Given the description of an element on the screen output the (x, y) to click on. 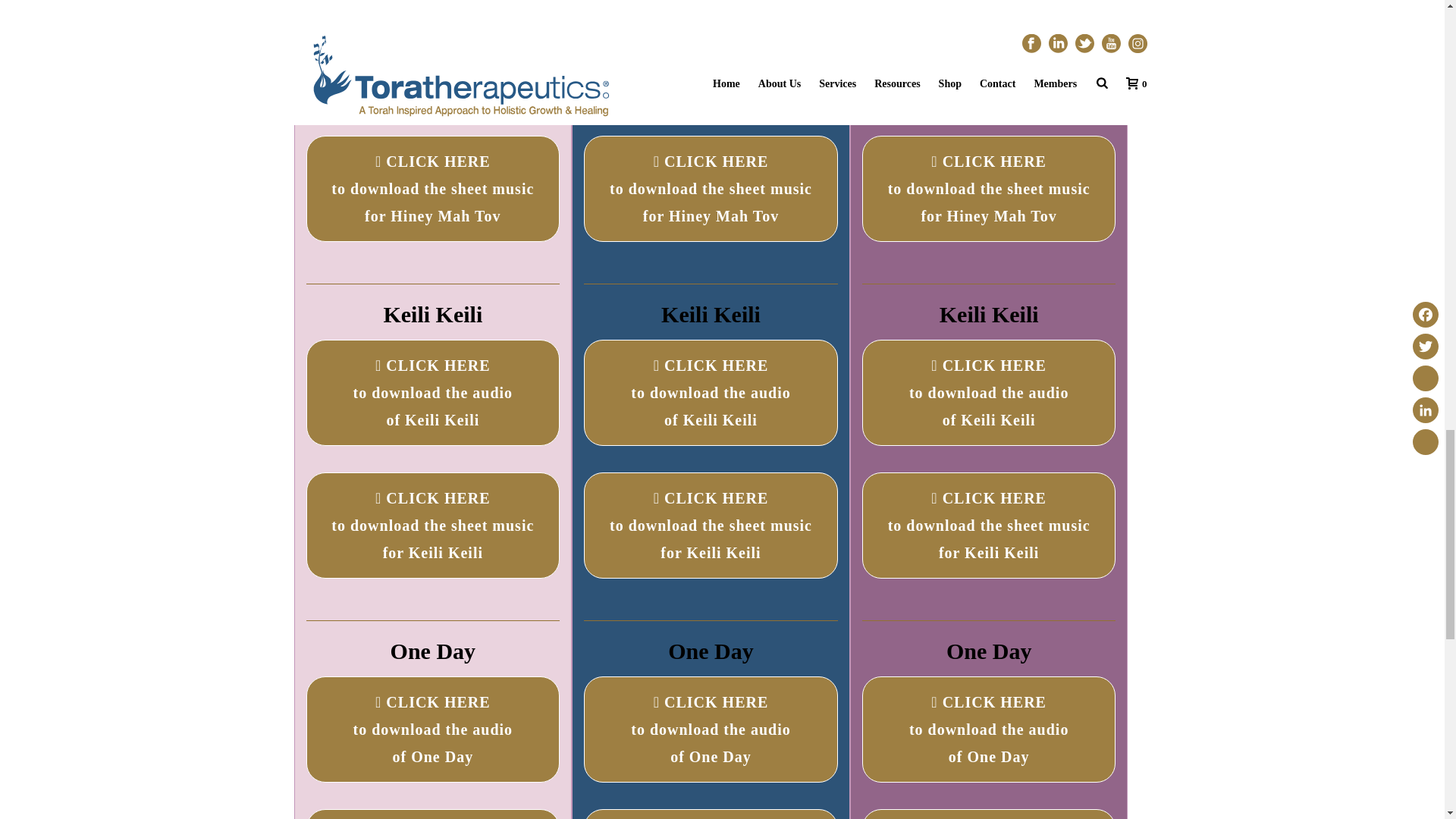
Page 1 (432, 650)
Page 1 (432, 314)
Page 1 (710, 314)
Page 1 (710, 650)
Page 1 (988, 650)
Page 1 (988, 314)
